Given the description of an element on the screen output the (x, y) to click on. 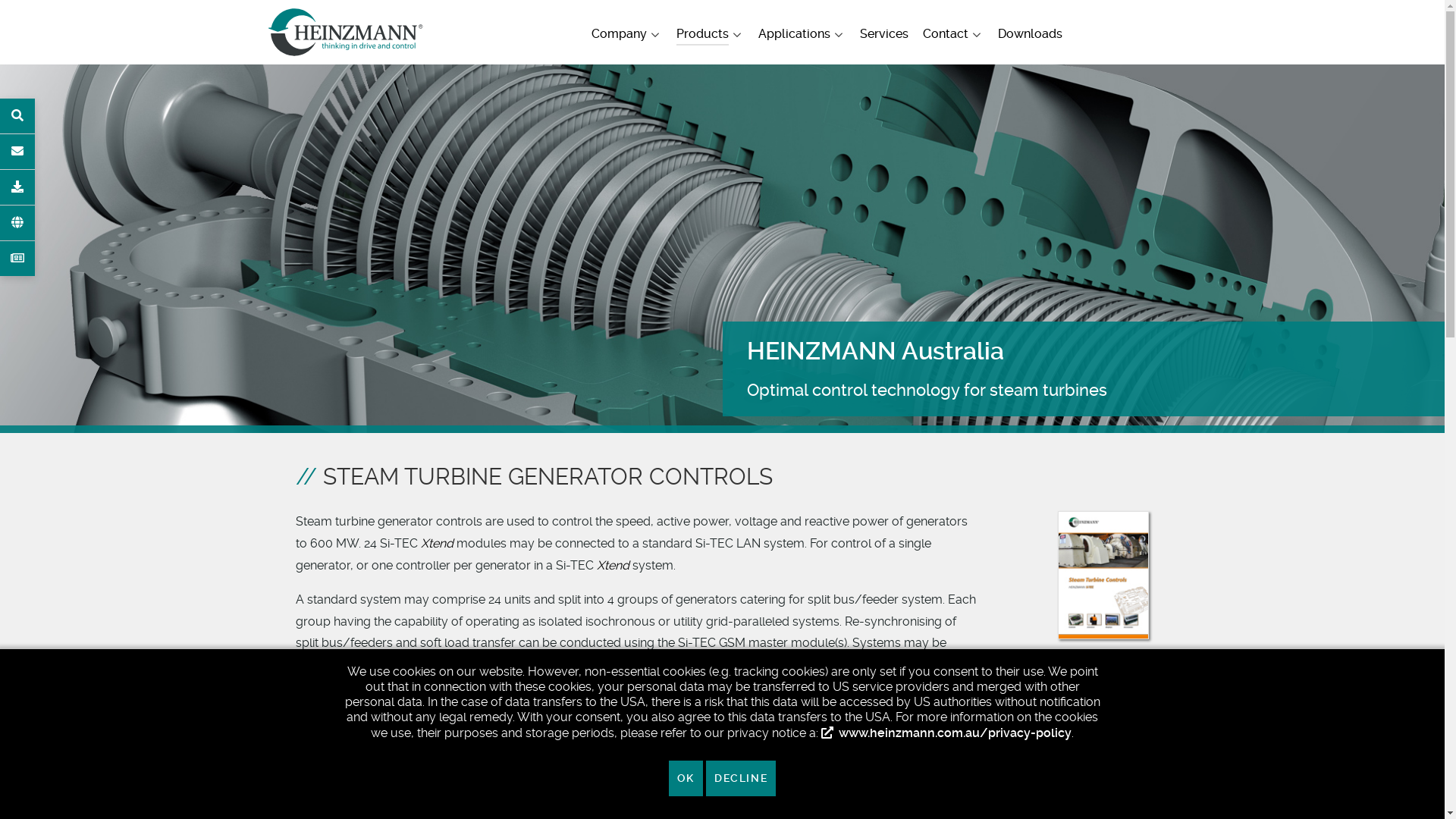
DECLINE Element type: text (740, 778)
Products Element type: text (709, 35)
Services Element type: text (883, 35)
Contact Element type: text (953, 35)
SEARCH Element type: text (17, 115)
Applications Element type: text (801, 35)
DOWNLOAD Element type: text (17, 186)
Downloads Element type: text (1029, 35)
CORPORATE GROUP Element type: text (17, 222)
Company Element type: text (626, 35)
  Element type: text (425, 24)
www.heinzmann.com.au/privacy-policy Element type: text (945, 732)
OK Element type: text (685, 778)
NEWS Element type: text (17, 258)
CONTACT Element type: text (17, 151)
